Given the description of an element on the screen output the (x, y) to click on. 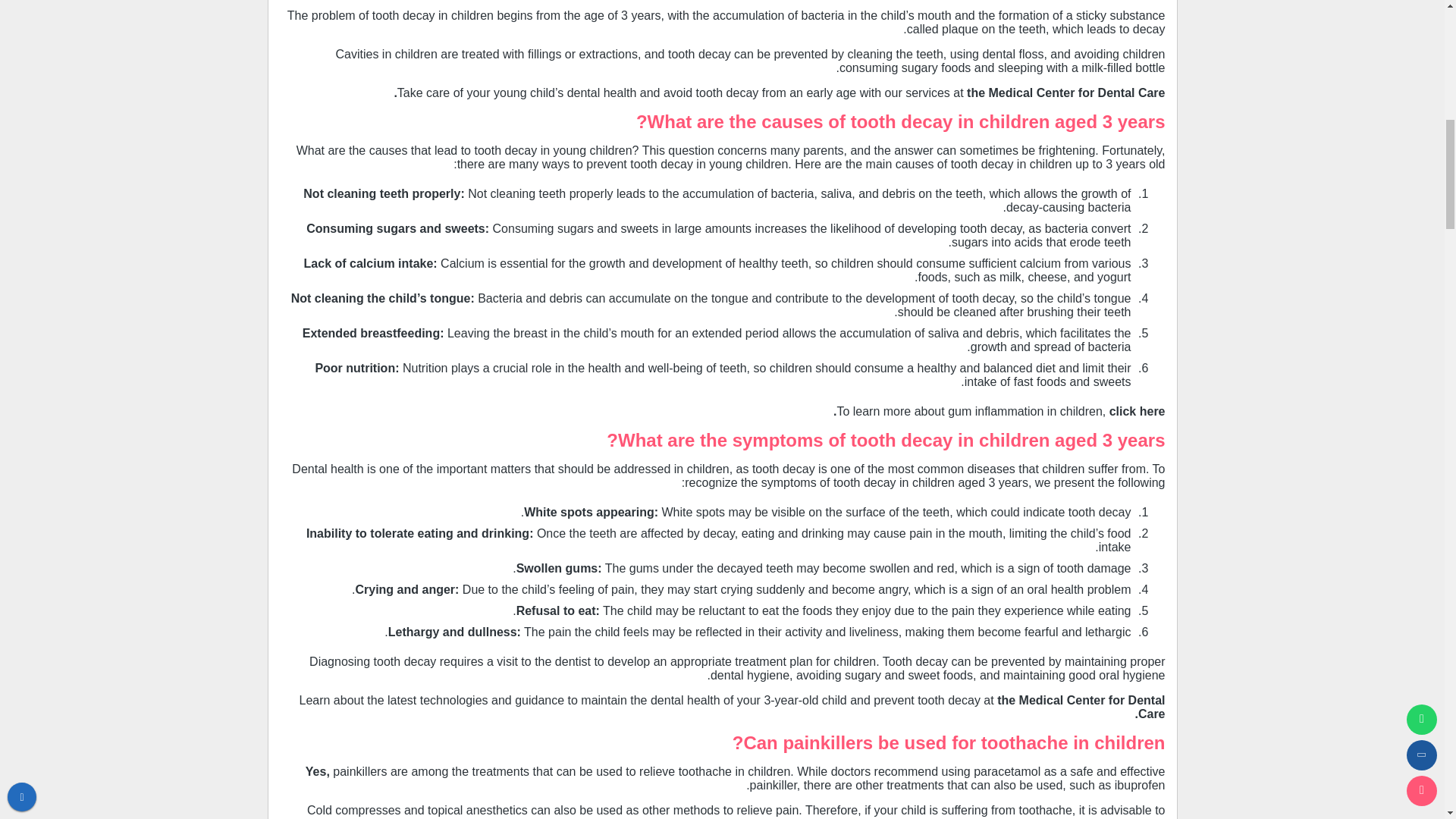
Swollen gums (557, 567)
causes of tooth decay in children (905, 121)
click here. (999, 410)
